Given the description of an element on the screen output the (x, y) to click on. 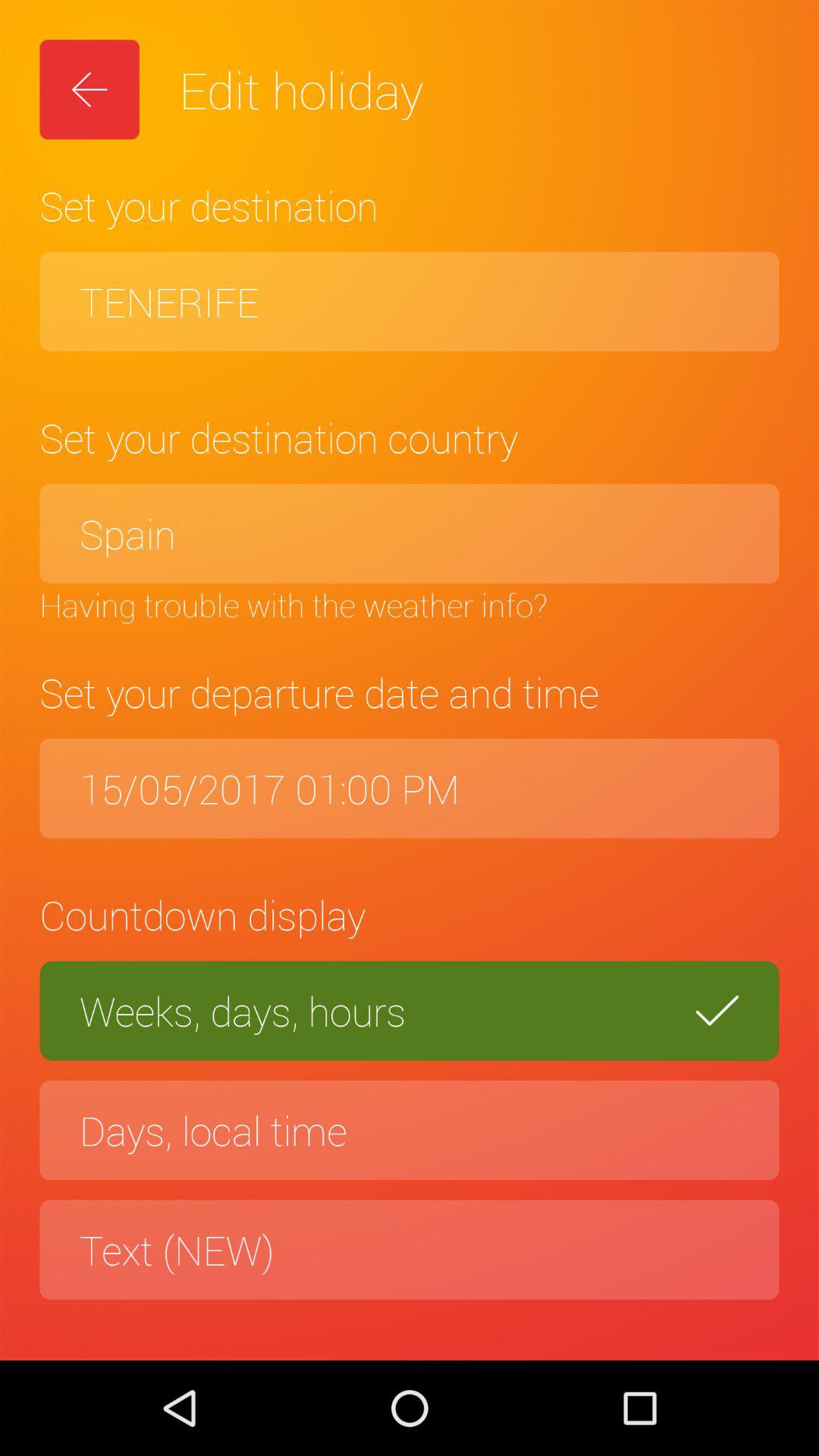
swipe until tenerife (409, 301)
